Given the description of an element on the screen output the (x, y) to click on. 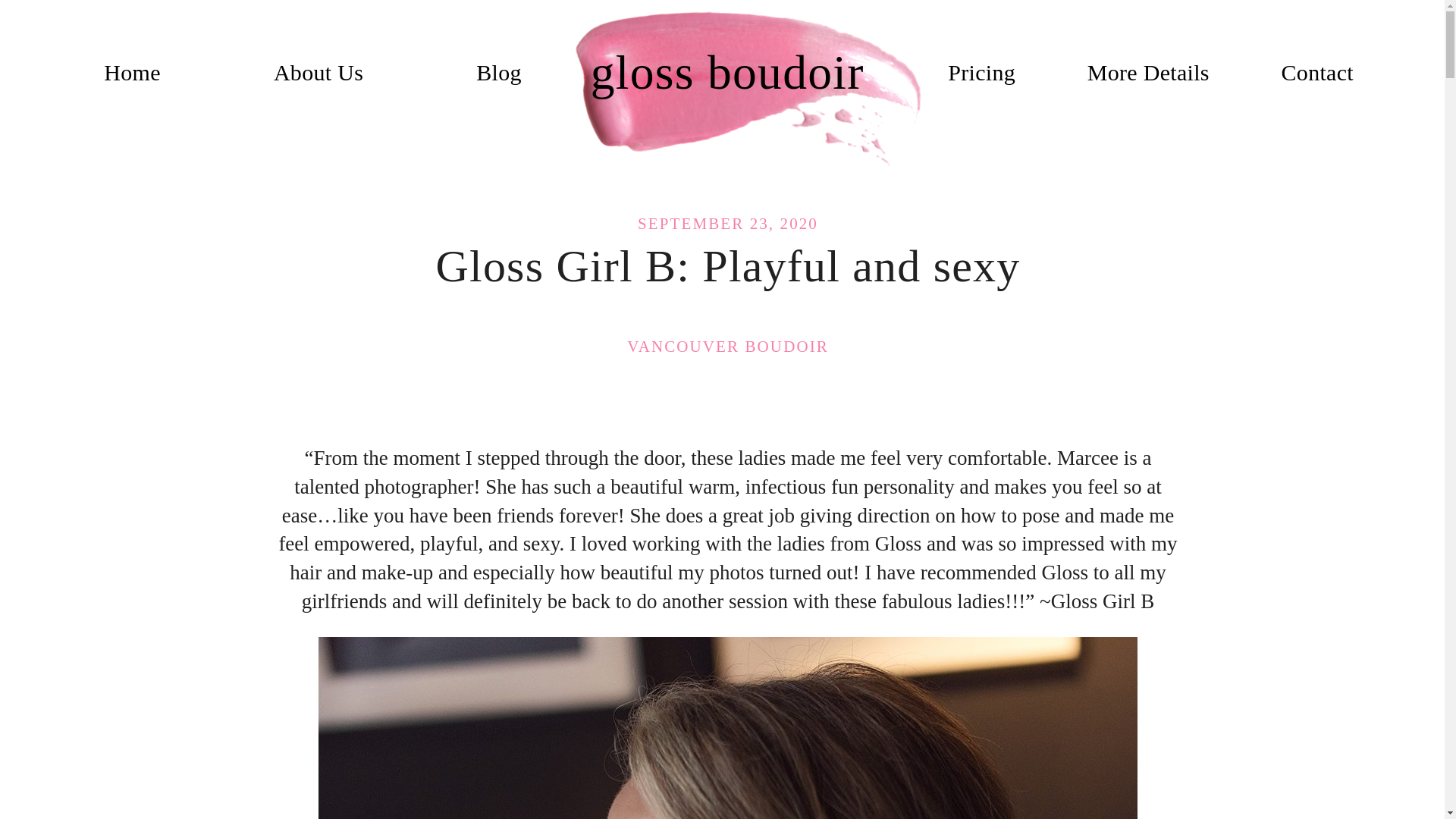
About Us (317, 72)
Pricing (980, 72)
Home (131, 72)
More Details (1148, 72)
gloss boudoir (727, 72)
VANCOUVER BOUDOIR (727, 346)
Blog (498, 72)
Contact (1317, 72)
